Given the description of an element on the screen output the (x, y) to click on. 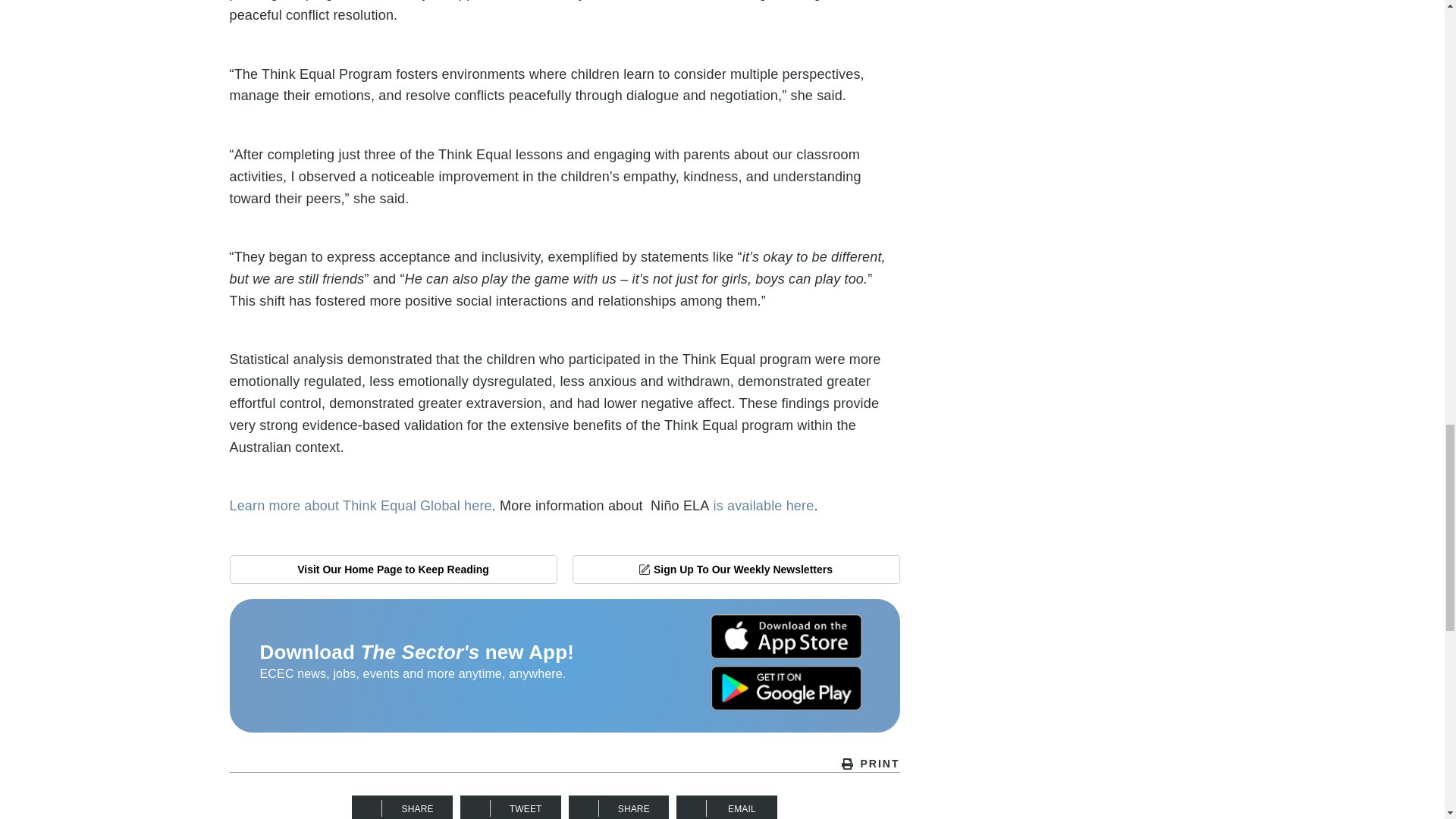
Visit Our Home Page to Keep Reading (392, 569)
Learn more about Think Equal Global here (360, 505)
Share on LinkedIn (619, 807)
Share on Email (727, 807)
Share on Facebook (402, 807)
is available here (763, 505)
Tweet (510, 807)
Sign Up To Our Weekly Newsletters (735, 569)
